Given the description of an element on the screen output the (x, y) to click on. 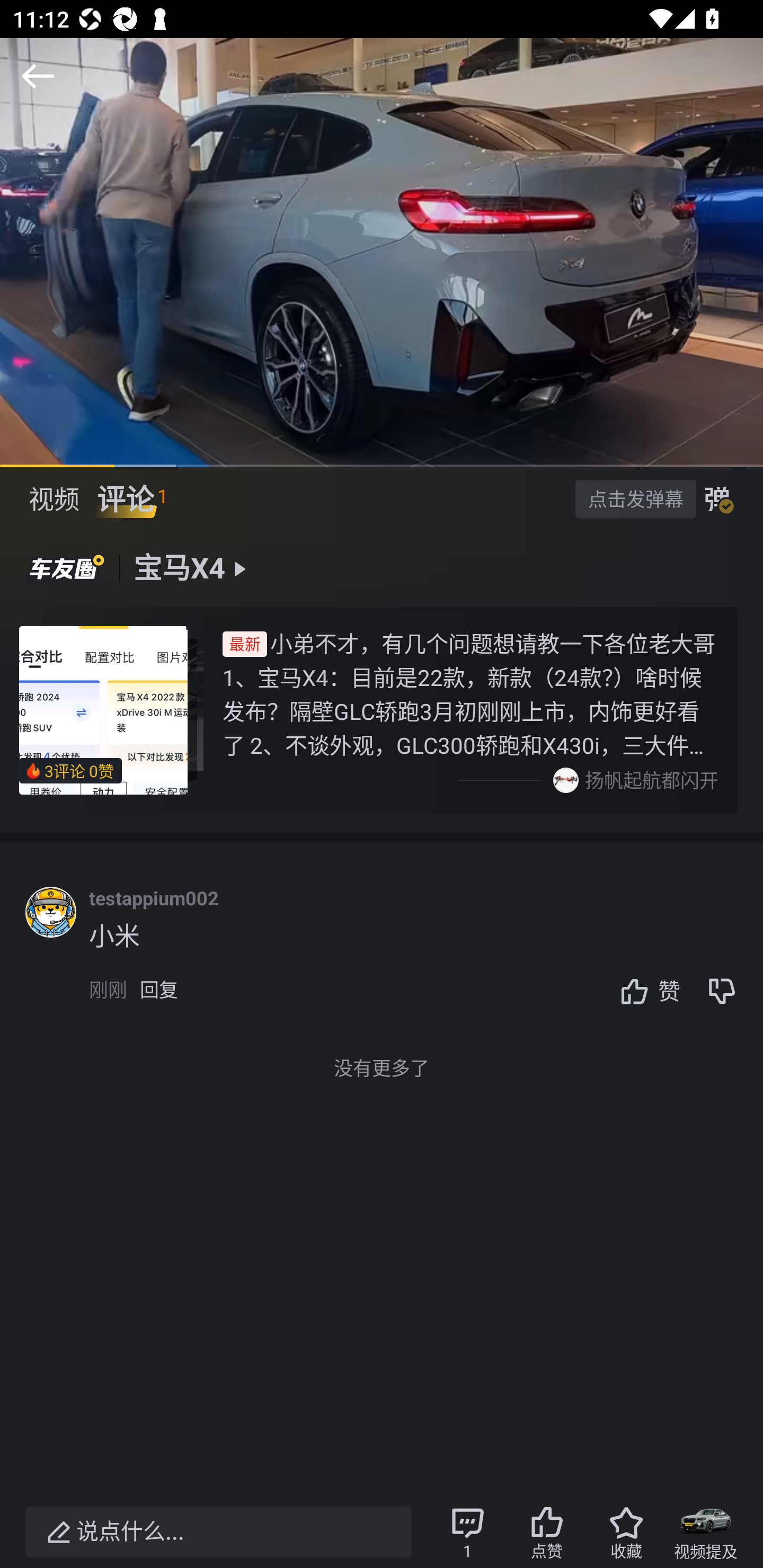
15.0 (381, 252)
 (38, 75)
视频 (53, 499)
评论 1 (131, 499)
点击发弹幕 (635, 498)
testappium002 小米 刚刚 回复 赞 (426, 956)
testappium002 (153, 898)
赞 (645, 990)
 1 (467, 1531)
点赞 (546, 1531)
收藏 (625, 1531)
视频提及 (705, 1531)
 说点什么... (218, 1531)
